Given the description of an element on the screen output the (x, y) to click on. 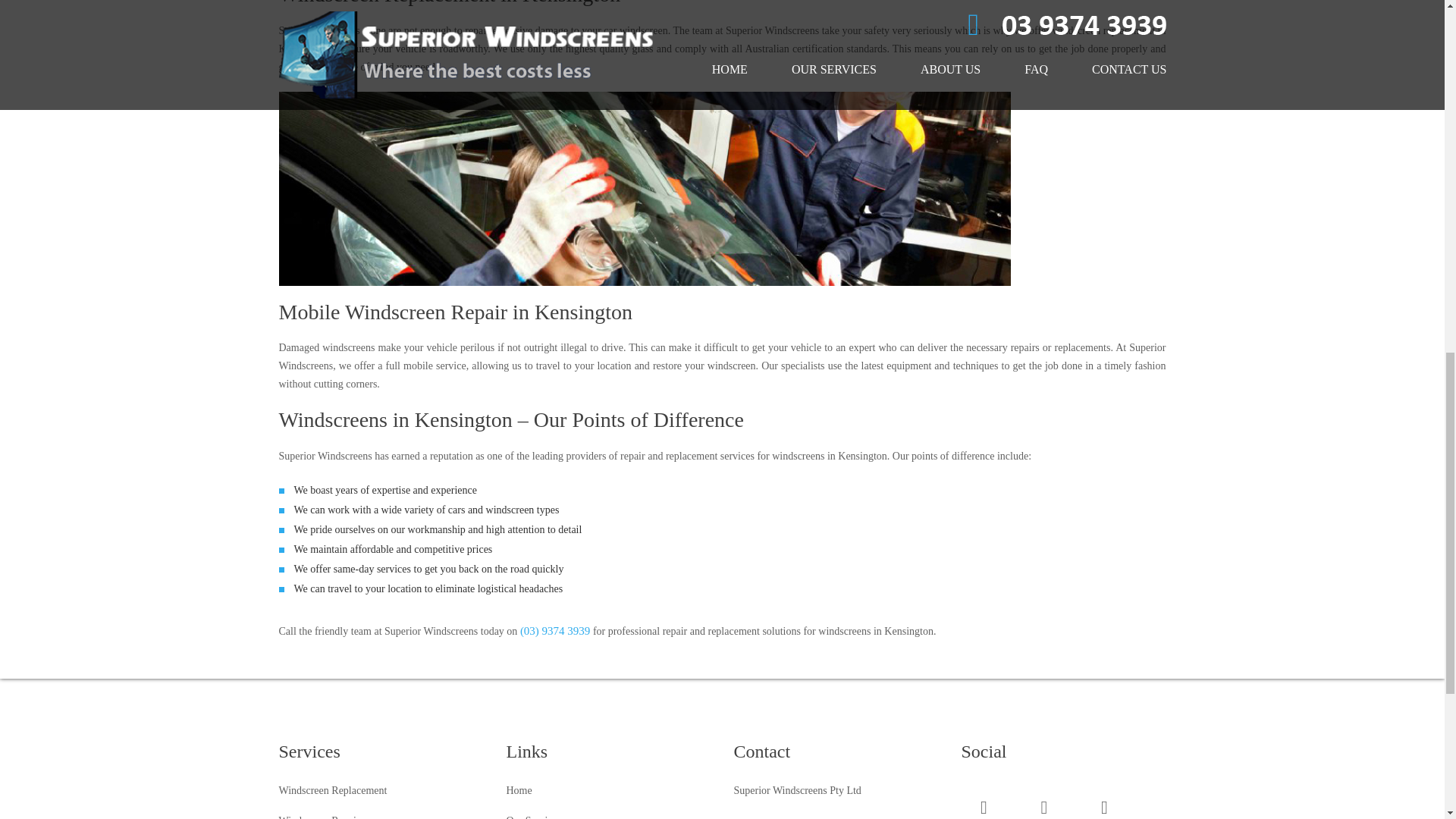
Youtube (1103, 809)
Facebook (983, 809)
Windscreen Replacement (333, 790)
Windscreen Repairs (322, 816)
Home (519, 790)
Twitter (1044, 809)
Our Services (534, 816)
